Given the description of an element on the screen output the (x, y) to click on. 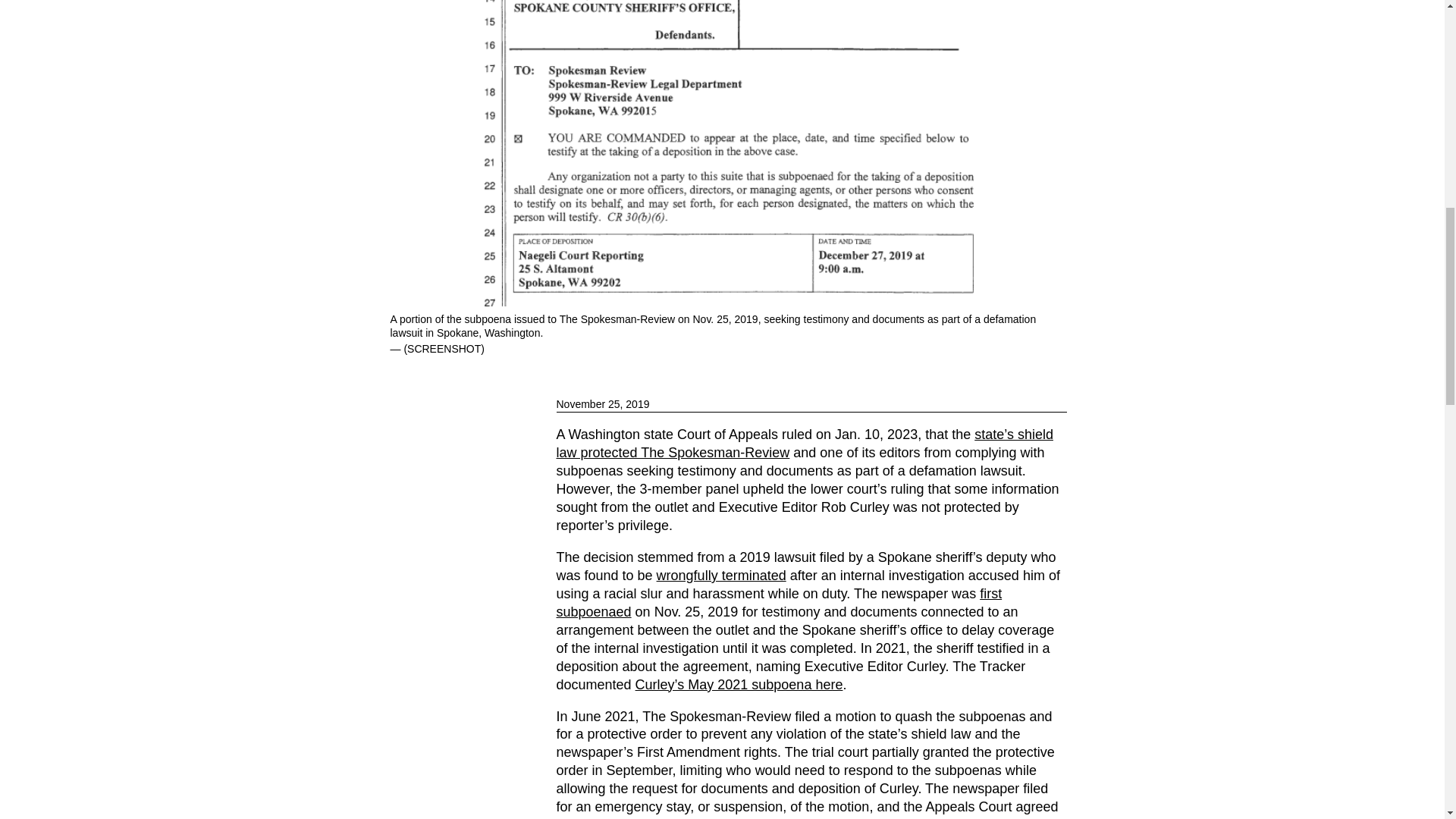
first subpoenaed (779, 602)
wrongfully terminated (721, 575)
November 25, 2019 (811, 404)
